Given the description of an element on the screen output the (x, y) to click on. 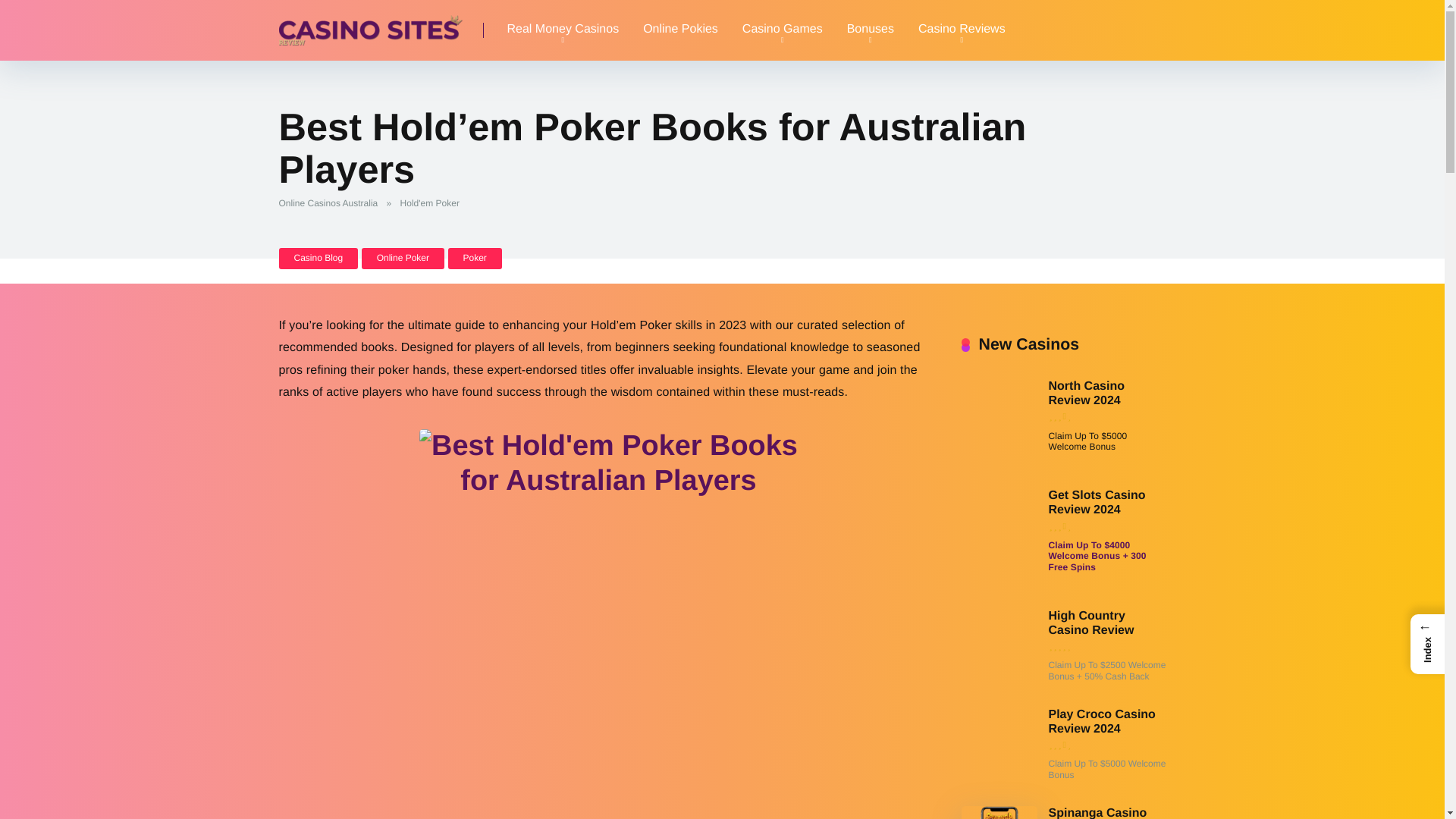
Casino Games (782, 30)
Online Casinos Australia (331, 203)
Poker (473, 258)
Online Pokies (680, 30)
Bonuses (869, 30)
High Country Casino Review (1091, 623)
Casino Reviews (961, 30)
Get Slots Casino Review 2024 (1096, 502)
Casino Blog (318, 258)
Real Money Casinos (562, 30)
Online Poker (402, 258)
North Casino Review 2024 (1086, 393)
